Given the description of an element on the screen output the (x, y) to click on. 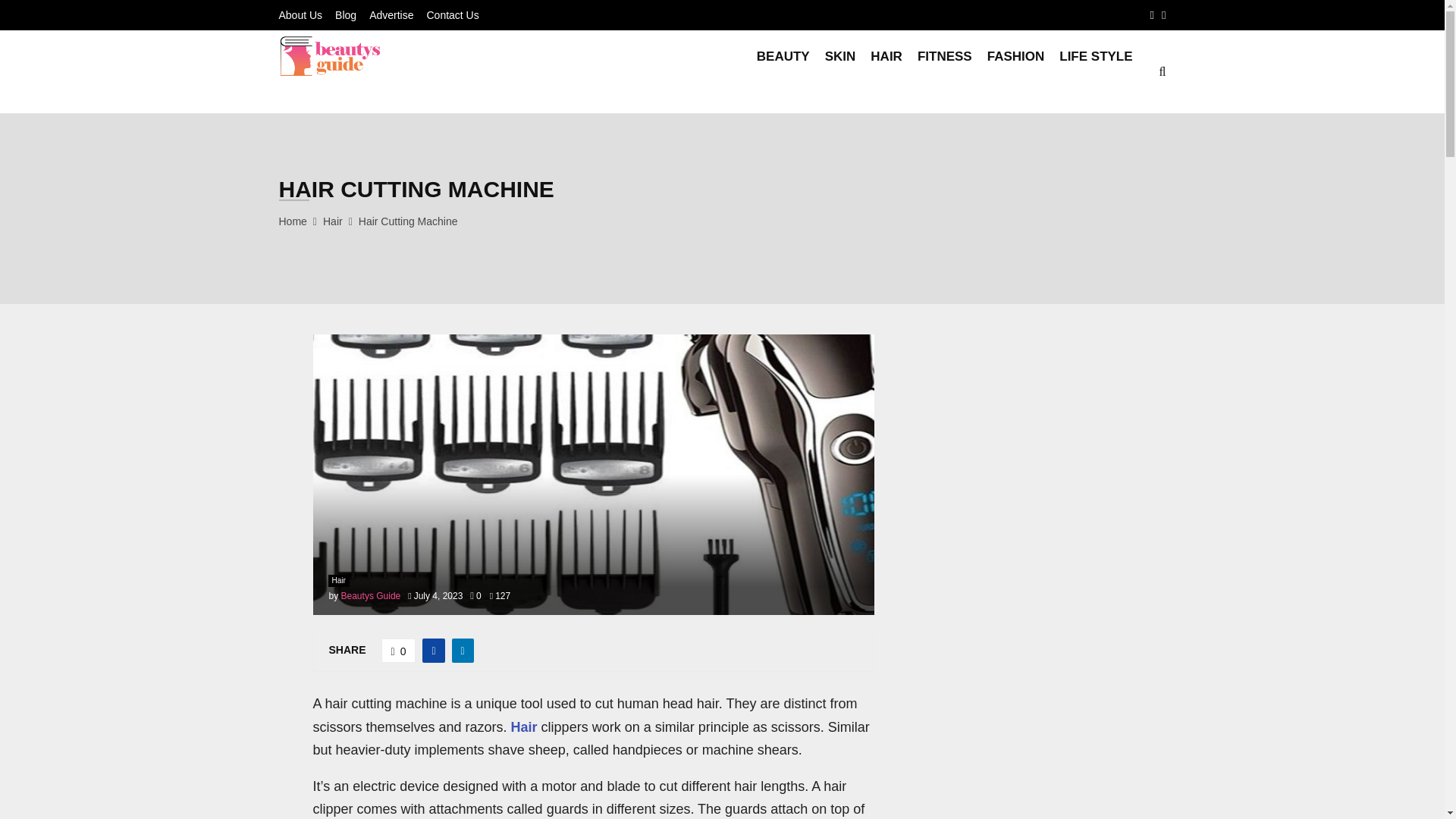
Blog (345, 15)
Facebook (1152, 15)
Facebook (1152, 15)
Hair (332, 221)
Advertise (391, 15)
Linkedin (1163, 15)
Contact Us (452, 15)
0 (475, 595)
LIFE STYLE (1095, 71)
FASHION (1016, 71)
Hair (338, 580)
Linkedin (1163, 15)
FITNESS (944, 71)
Hair (524, 726)
BEAUTY (783, 71)
